Given the description of an element on the screen output the (x, y) to click on. 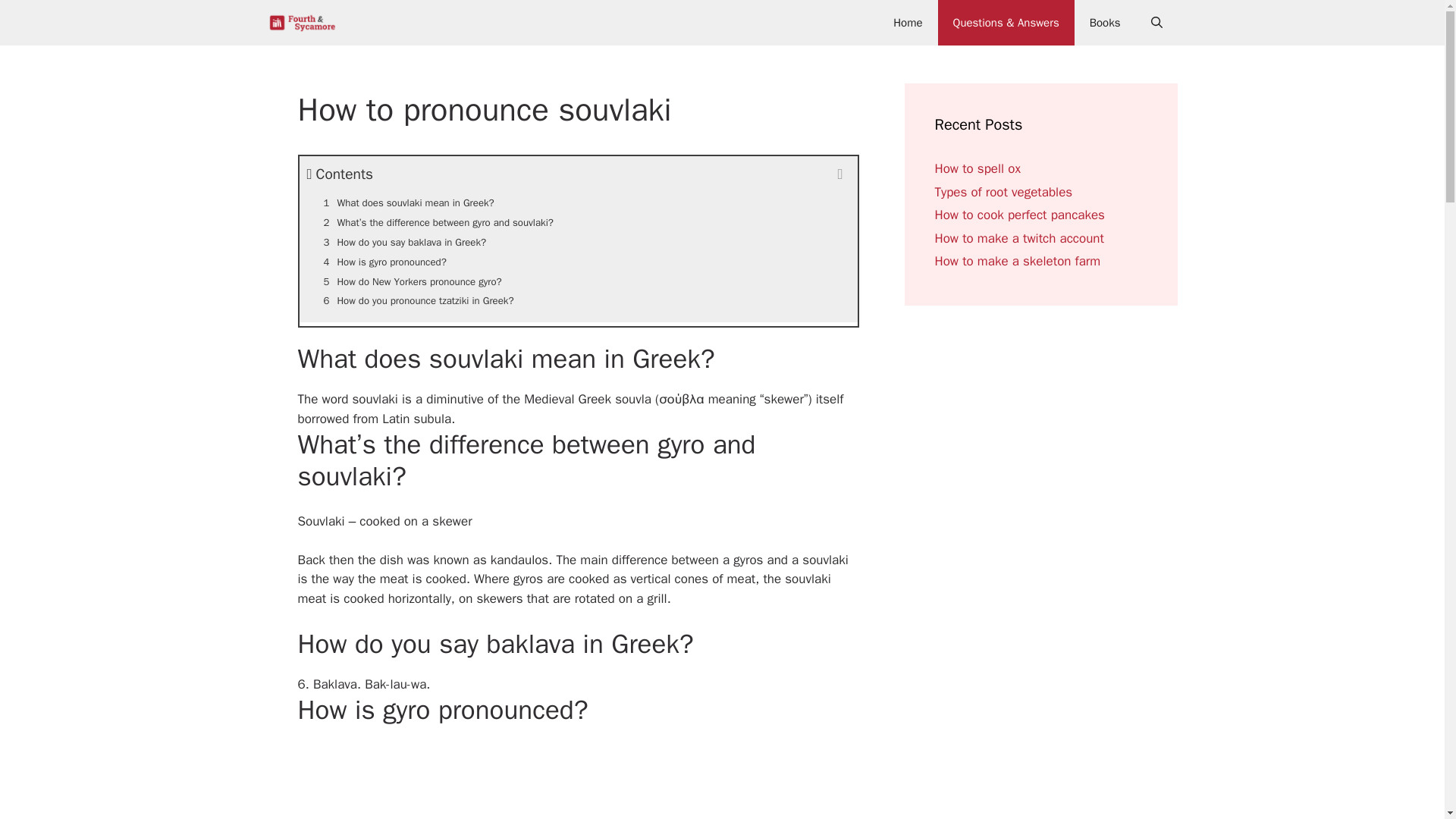
What does souvlaki mean in Greek? (577, 202)
Books (1104, 22)
How do you say baklava in Greek? (577, 242)
How do you pronounce tzatziki in Greek? (577, 301)
How is gyro pronounced? (577, 261)
How do New Yorkers pronounce gyro? (577, 281)
Home (907, 22)
